Given the description of an element on the screen output the (x, y) to click on. 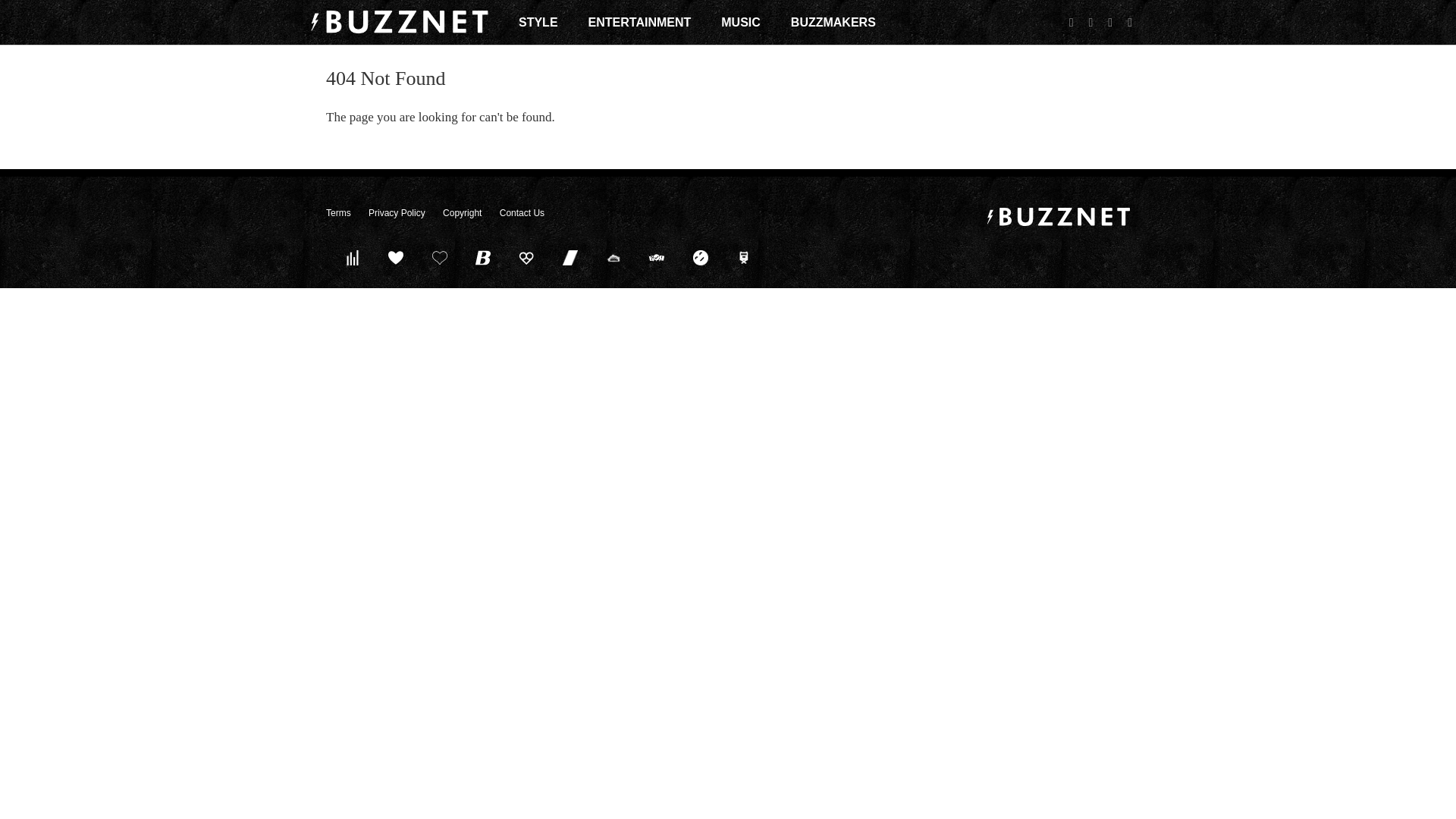
MUSIC (740, 22)
Privacy Policy (396, 213)
ENTERTAINMENT (639, 22)
Pure Volume (351, 257)
BleacherBreaker (483, 257)
Daily Funny (699, 257)
Contact Us (521, 213)
Terms (338, 213)
Explored Hollywood (743, 257)
Copyright (461, 213)
Taco Relish (612, 257)
Trend Chaser (570, 257)
Idolator (395, 257)
Hooch (526, 257)
Post Fun (439, 257)
